Given the description of an element on the screen output the (x, y) to click on. 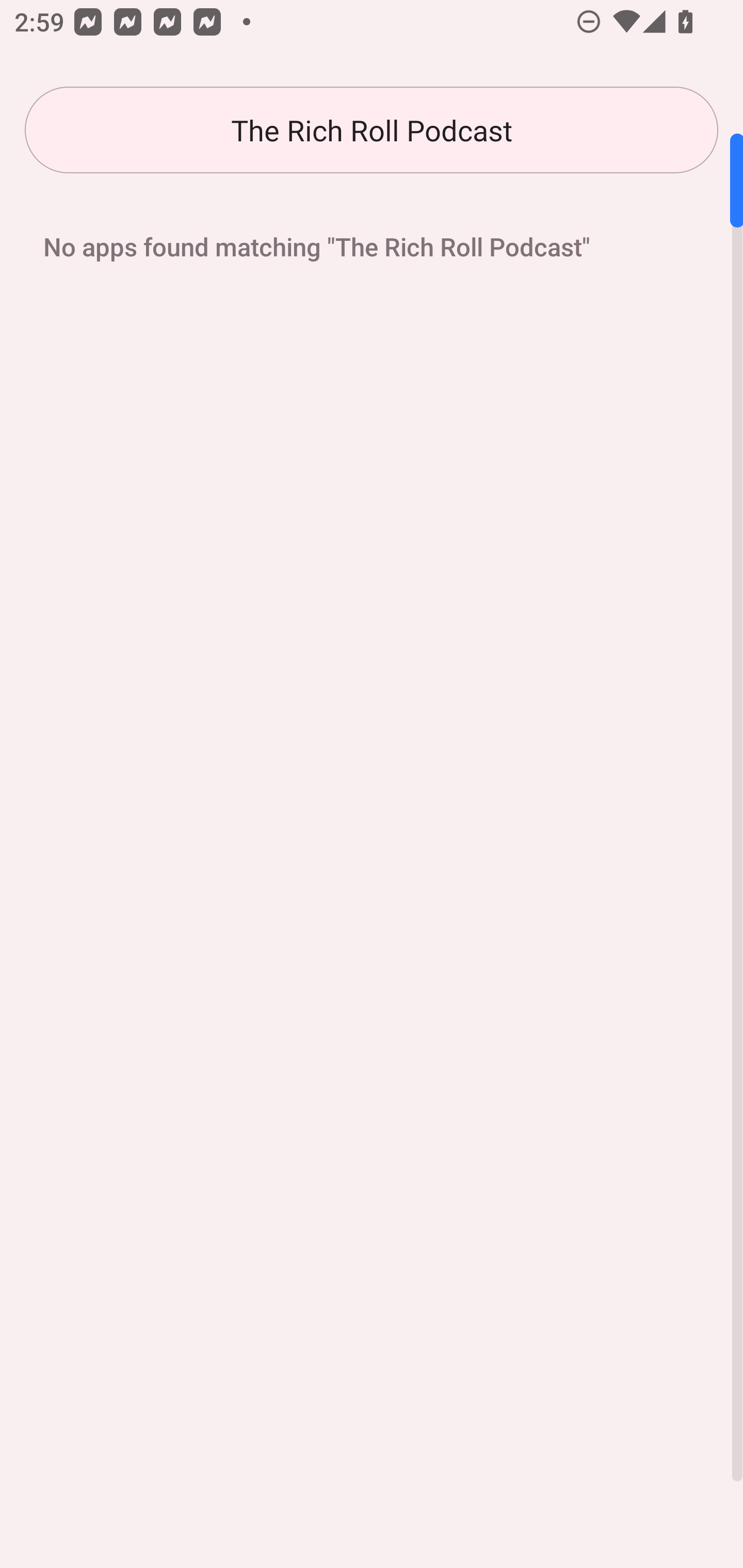
The Rich Roll Podcast (371, 130)
